Given the description of an element on the screen output the (x, y) to click on. 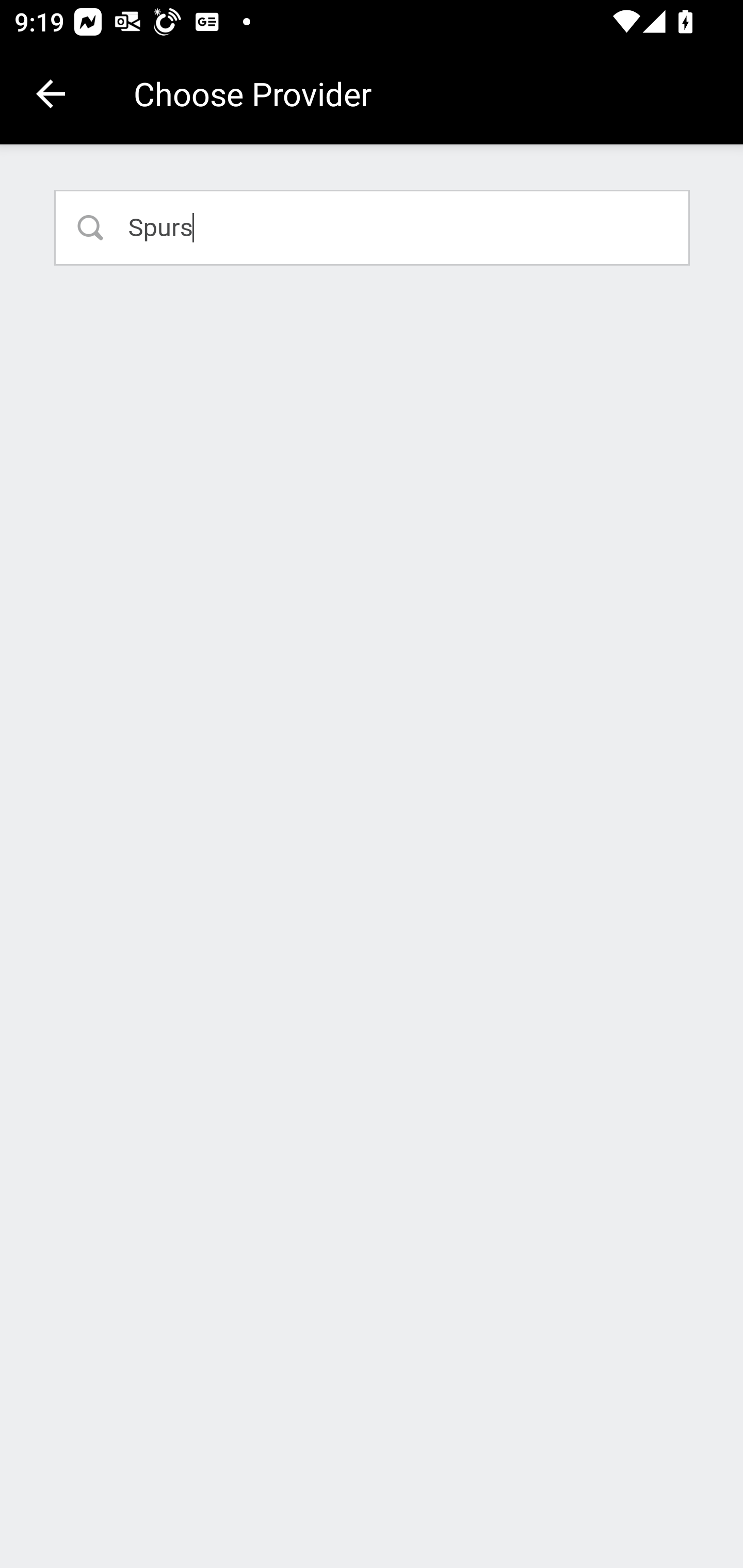
Navigate up (50, 93)
Spurs (372, 227)
